Given the description of an element on the screen output the (x, y) to click on. 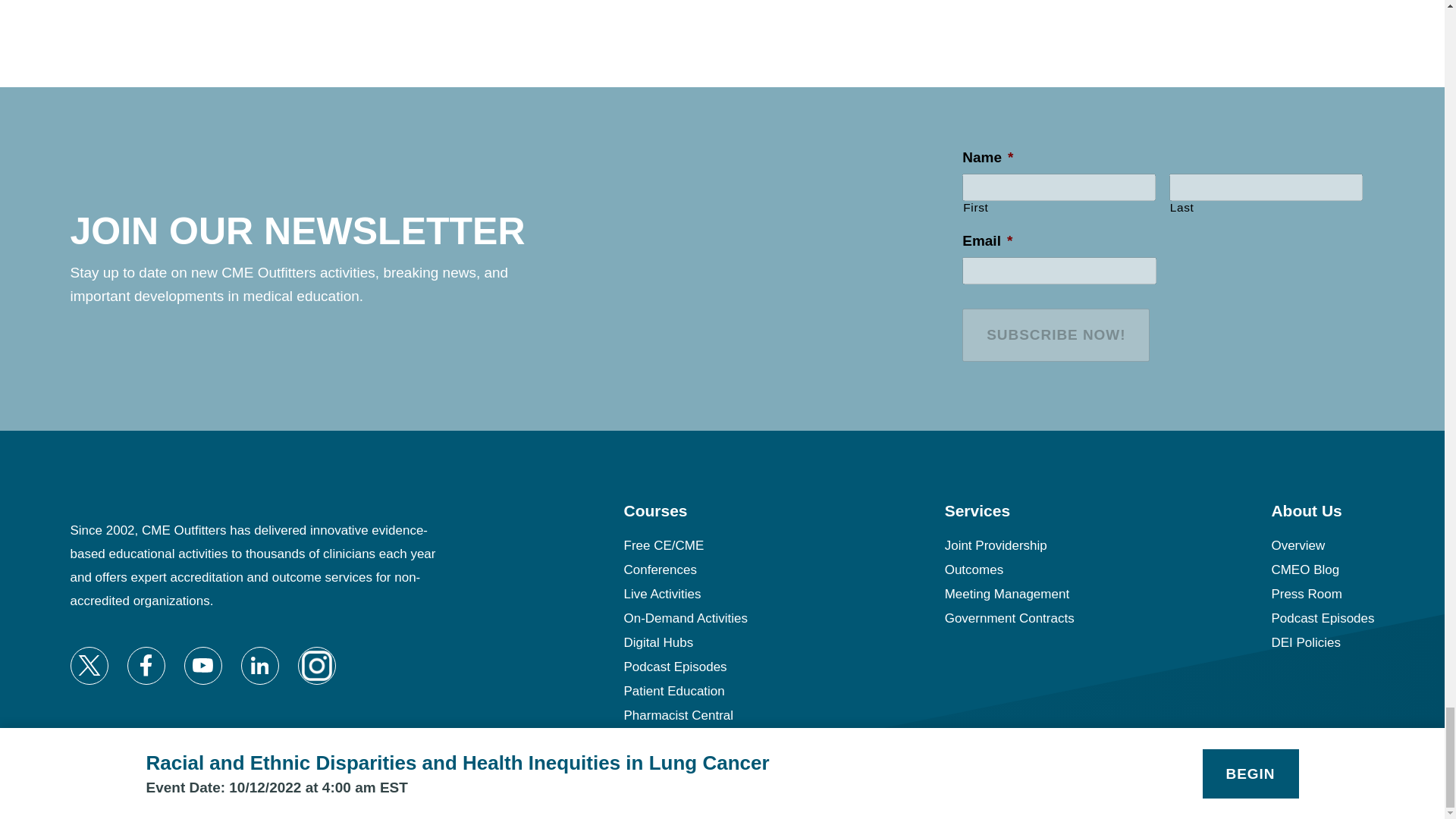
Subscribe Now! (1056, 334)
